Given the description of an element on the screen output the (x, y) to click on. 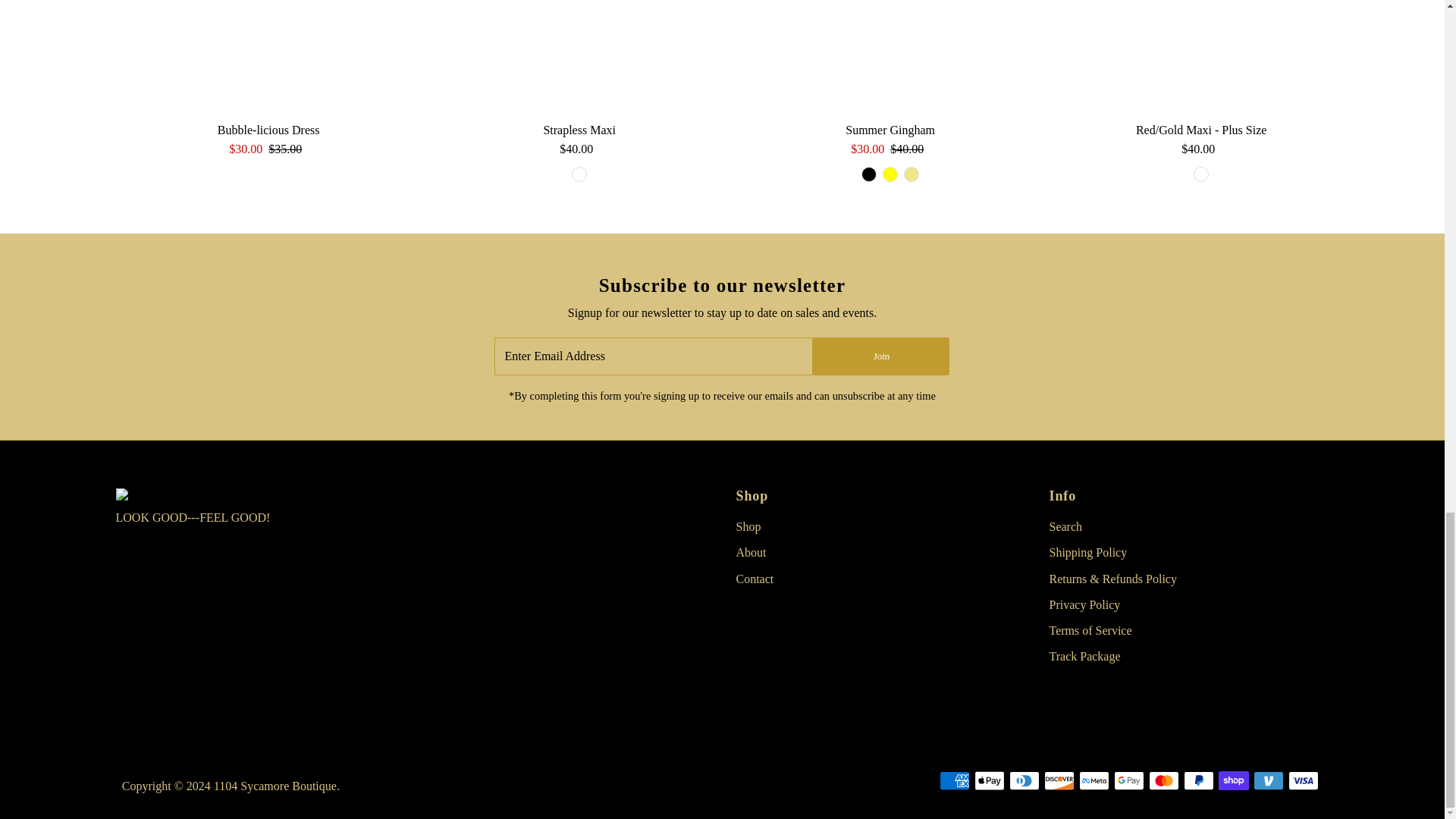
Bubble-licious Dress (268, 57)
Diners Club (1024, 780)
Meta Pay (1093, 780)
American Express (954, 780)
PayPal (1198, 780)
Google Pay (1128, 780)
Apple Pay (989, 780)
Mastercard (1163, 780)
Summer Gingham (889, 57)
Shop Pay (1233, 780)
